Given the description of an element on the screen output the (x, y) to click on. 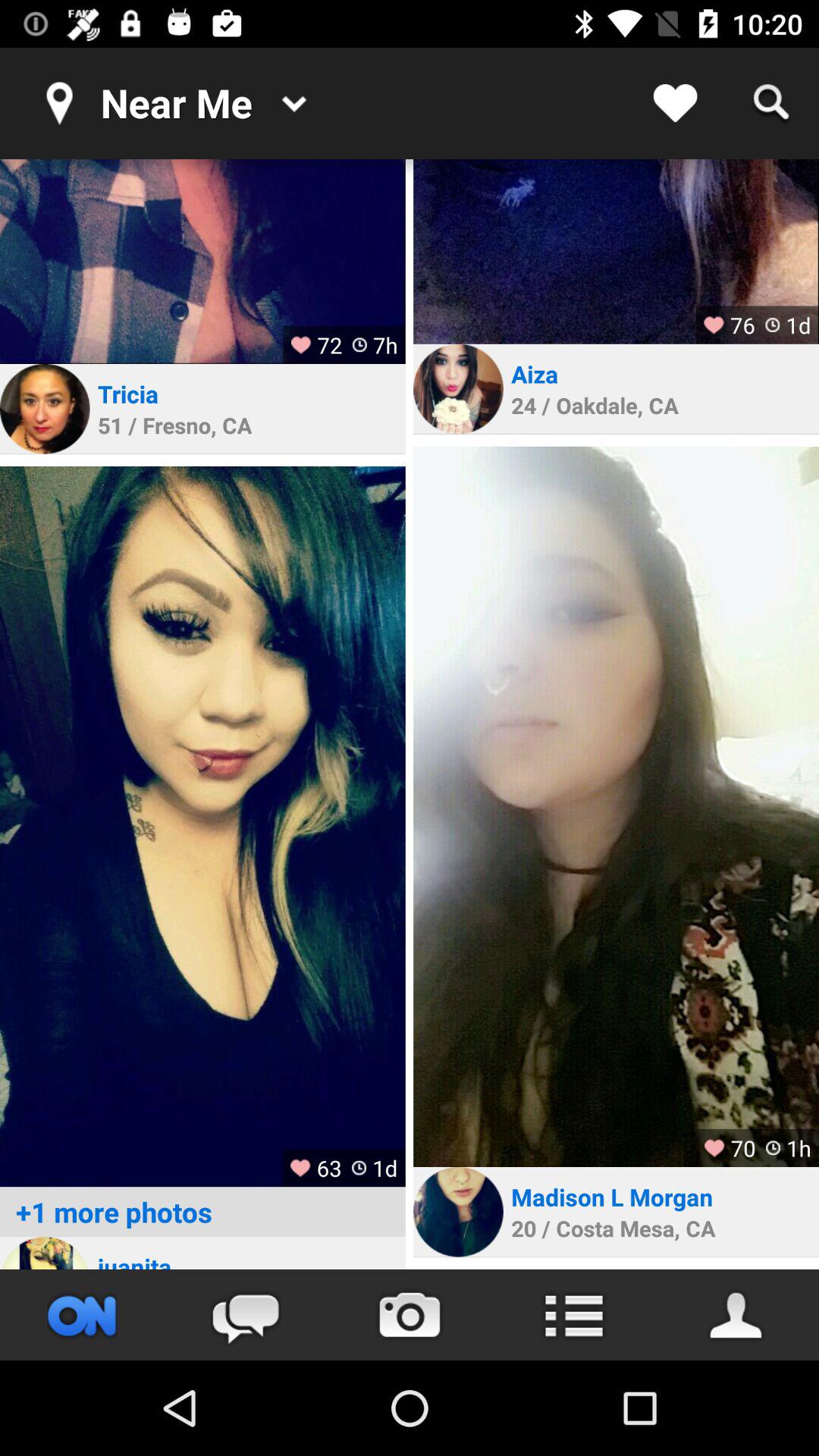
view profile (44, 408)
